Given the description of an element on the screen output the (x, y) to click on. 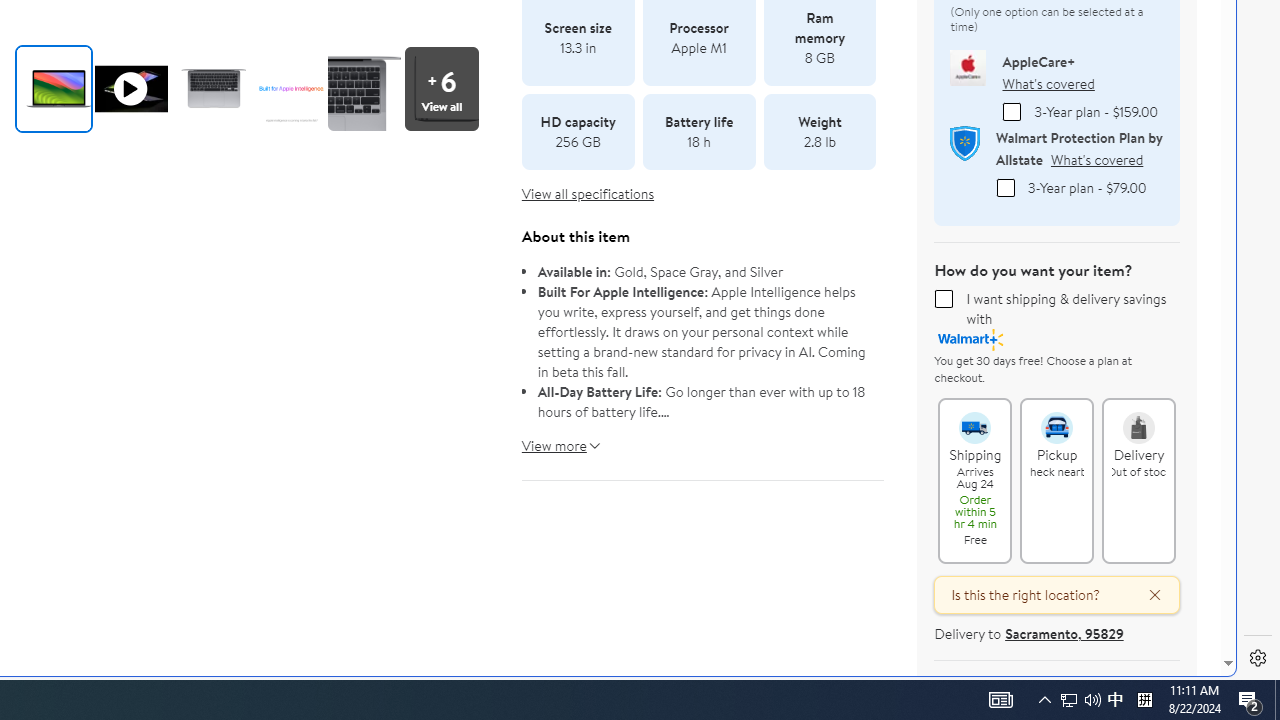
Class: absolute pointer (130, 88)
Walmart plus (971, 340)
3-Year plan - $159.00 (1012, 111)
Shipping Arrives Aug 24 Order within 5 hr 4 min Free (974, 417)
Pickup Check nearby Pickup Check nearby (1057, 480)
Close question (1146, 595)
Available in: Gold, Space Gray, and Silver (703, 272)
